Given the description of an element on the screen output the (x, y) to click on. 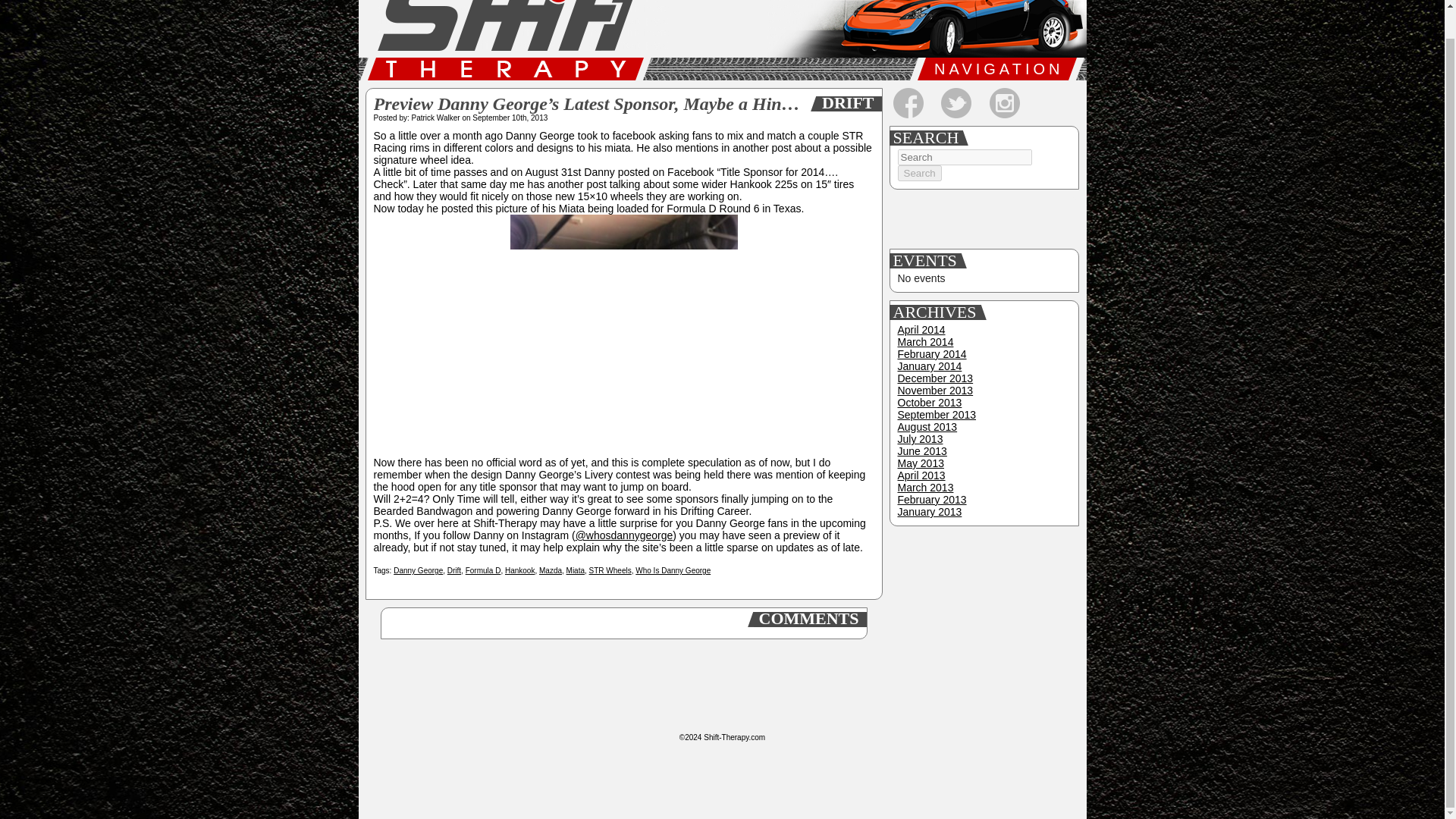
Facebook (908, 102)
Advertisement (983, 628)
Who Is Danny George (672, 570)
July 2013 (920, 439)
Formula D (482, 570)
DRIFT (845, 103)
Search (920, 172)
STR Wheels (610, 570)
Drift (453, 570)
Mazda (550, 570)
January 2014 (930, 366)
September 2013 (937, 414)
Instagram (1005, 102)
Miata (575, 570)
January 2013 (930, 511)
